Given the description of an element on the screen output the (x, y) to click on. 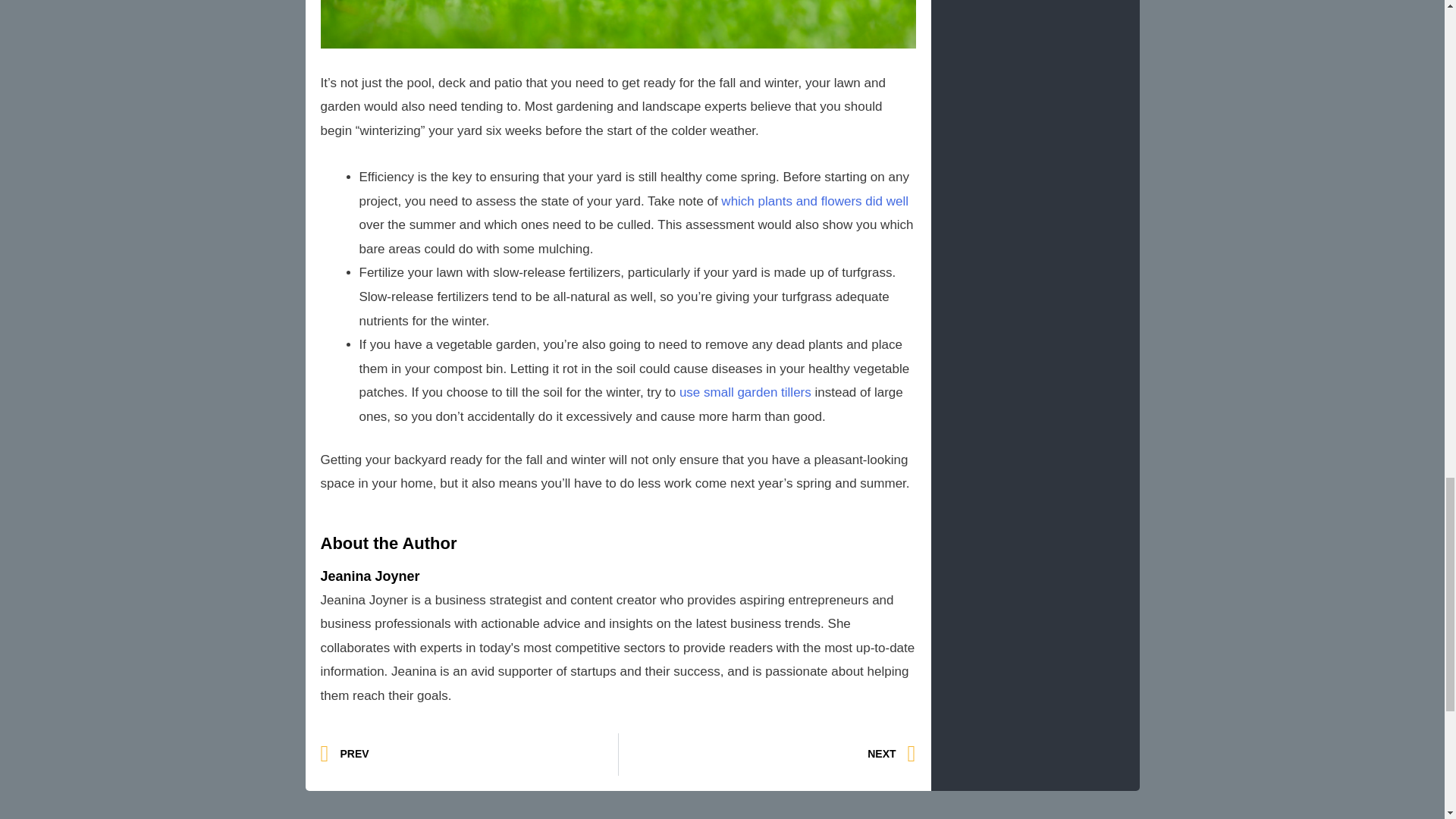
which plants and flowers did well (766, 754)
use small garden tillers (814, 201)
